Given the description of an element on the screen output the (x, y) to click on. 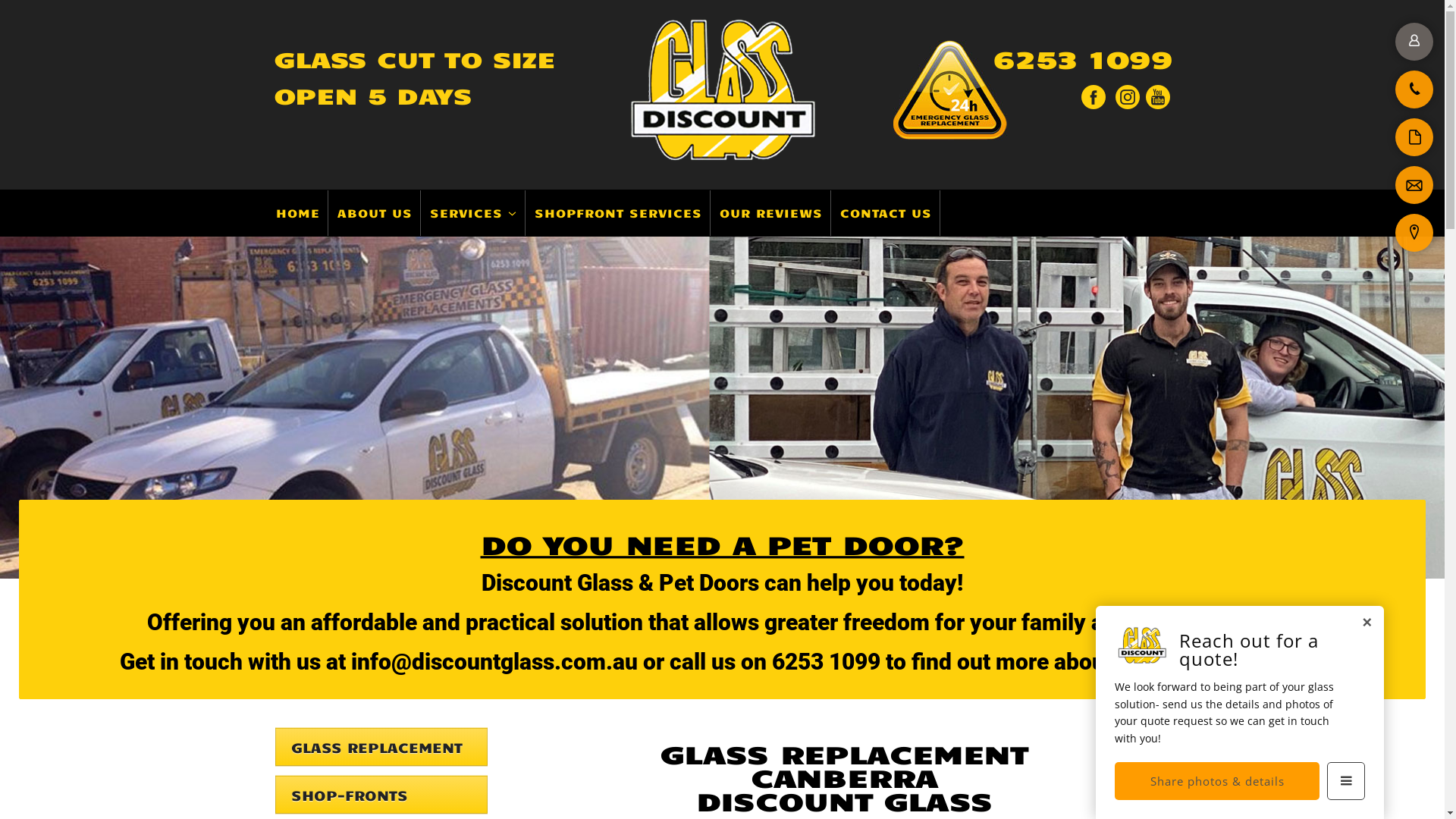
HOME Element type: text (298, 212)
6253 1099 Element type: text (1072, 62)
SHOPFRONT SERVICES Element type: text (617, 212)
SERVICES Element type: text (472, 212)
ABOUT US Element type: text (374, 212)
Share photos & details Element type: text (1216, 781)
OUR REVIEWS Element type: text (770, 212)
GLASS REPLACEMENT Element type: text (380, 749)
SHOP-FRONTS Element type: text (380, 796)
CONTACT US Element type: text (886, 212)
